Given the description of an element on the screen output the (x, y) to click on. 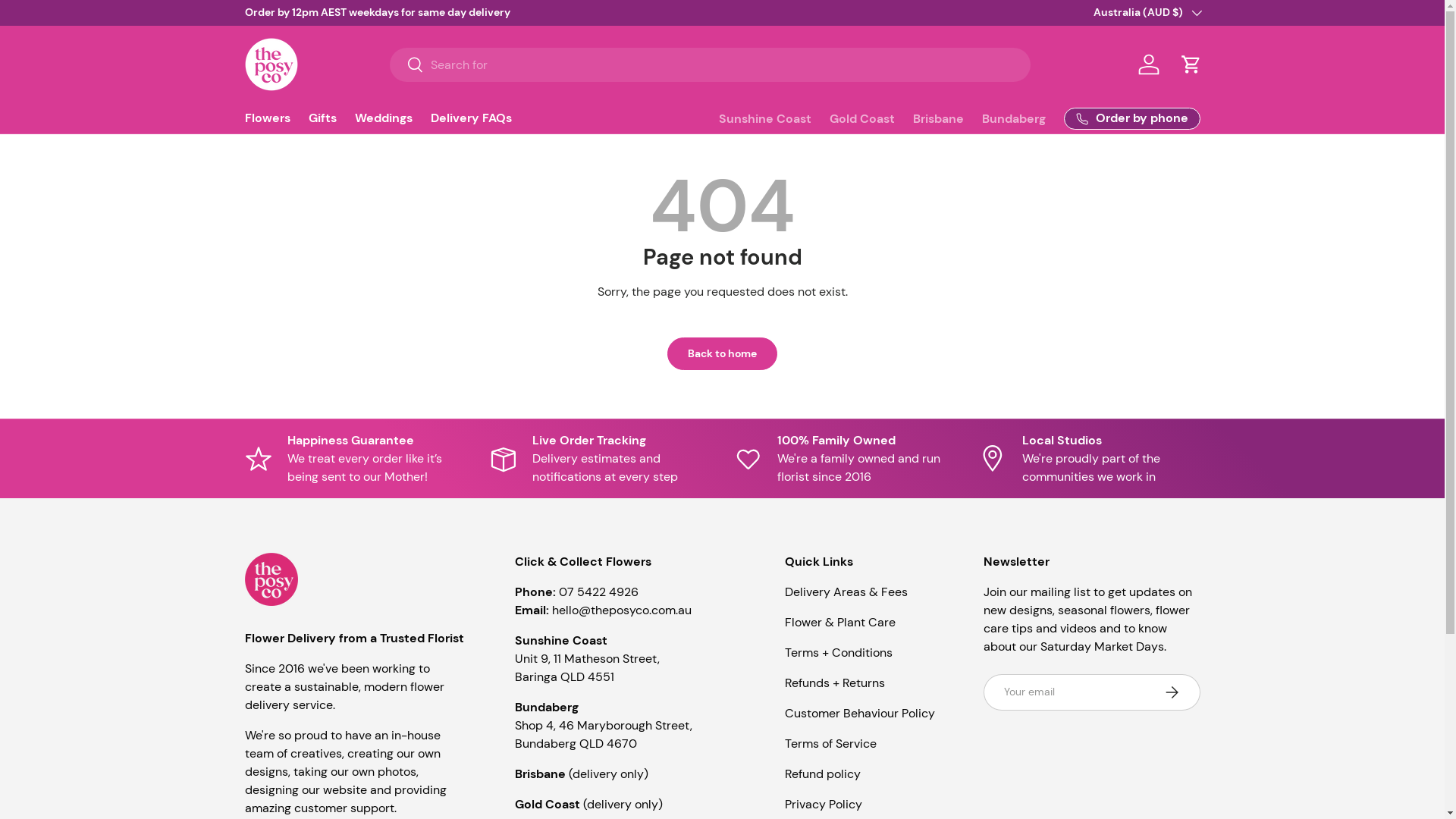
Weddings Element type: text (383, 117)
Subscribe Element type: text (1170, 692)
Log in Element type: text (1147, 64)
Gold Coast Element type: text (861, 118)
Gifts Element type: text (321, 117)
Flower & Plant Care Element type: text (839, 622)
Australia (AUD $) Element type: text (1146, 12)
Customer Behaviour Policy Element type: text (859, 713)
Order by phone Element type: text (1131, 118)
Back to home Element type: text (722, 353)
Refund policy Element type: text (821, 773)
Skip to content Element type: text (67, 21)
Brisbane Element type: text (938, 118)
Delivery Areas & Fees Element type: text (845, 591)
Bundaberg Element type: text (1013, 118)
Terms + Conditions Element type: text (837, 652)
Search Element type: text (406, 65)
Privacy Policy Element type: text (822, 804)
Refunds + Returns Element type: text (834, 682)
Flowers Element type: text (266, 117)
Delivery FAQs Element type: text (470, 117)
Terms of Service Element type: text (829, 743)
Sunshine Coast Element type: text (764, 118)
Cart Element type: text (1190, 64)
